Given the description of an element on the screen output the (x, y) to click on. 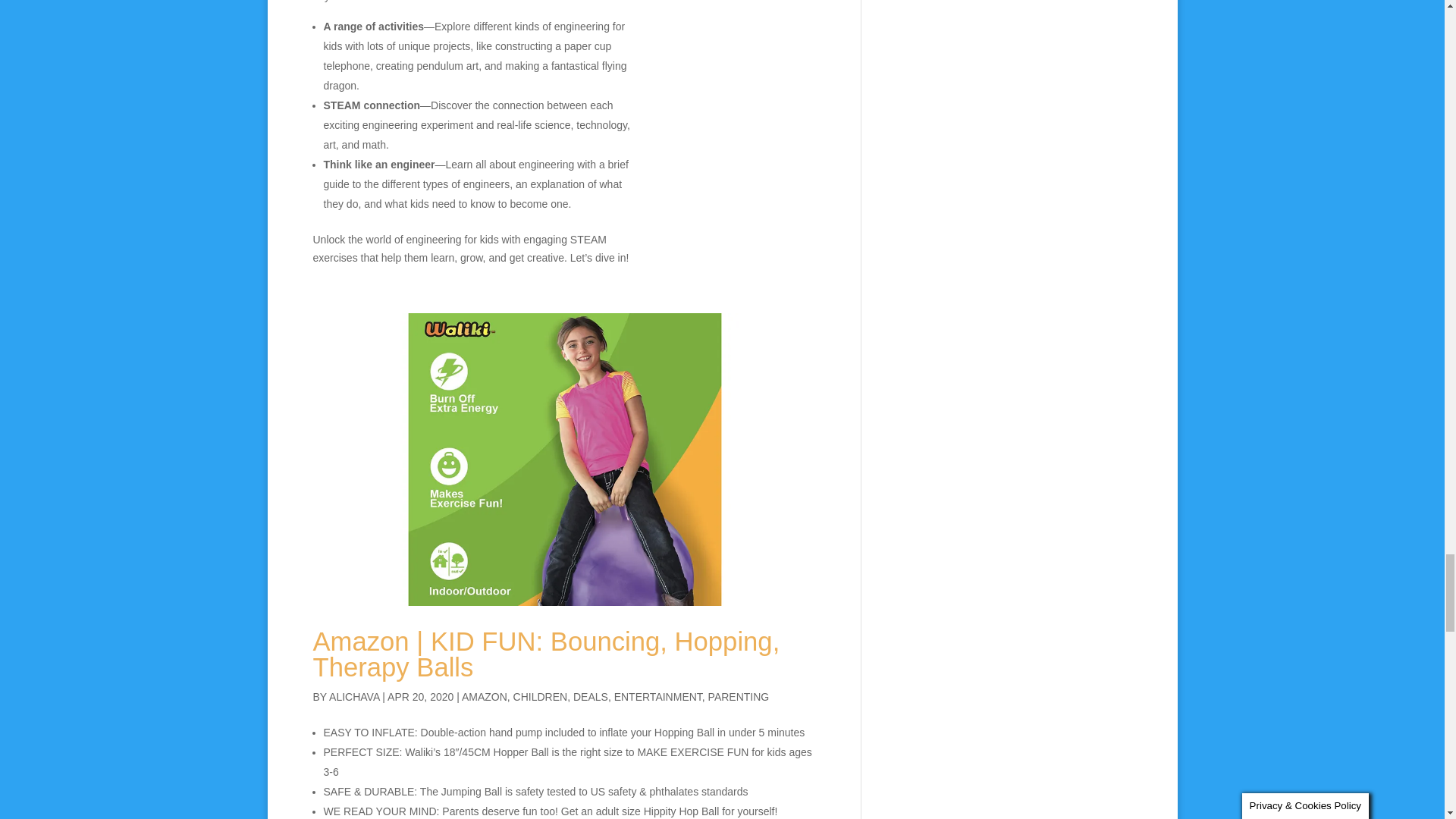
Posts by alichava (353, 696)
